Given the description of an element on the screen output the (x, y) to click on. 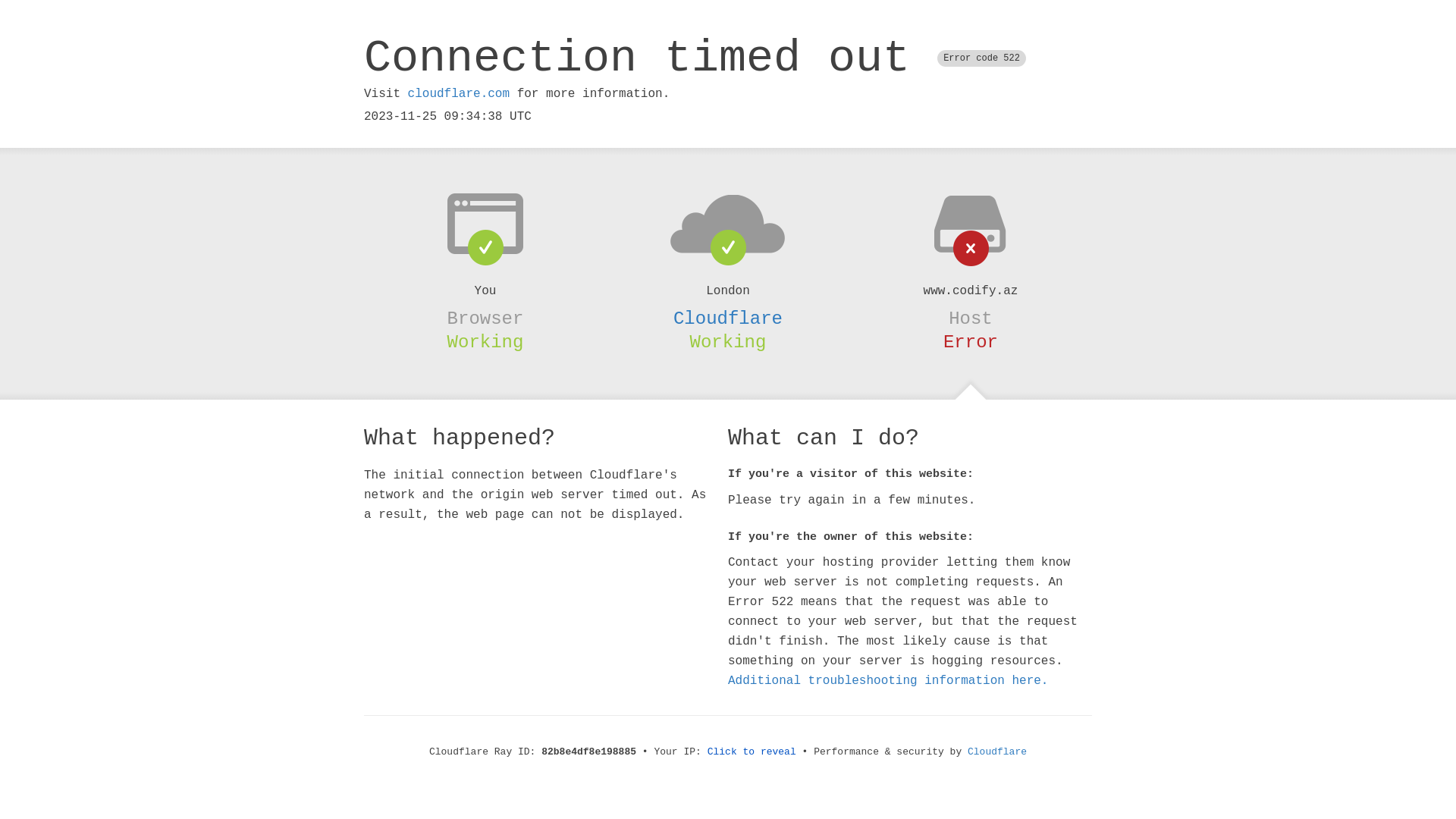
Click to reveal Element type: text (751, 751)
Cloudflare Element type: text (996, 751)
cloudflare.com Element type: text (458, 93)
Cloudflare Element type: text (727, 318)
Additional troubleshooting information here. Element type: text (888, 680)
